Given the description of an element on the screen output the (x, y) to click on. 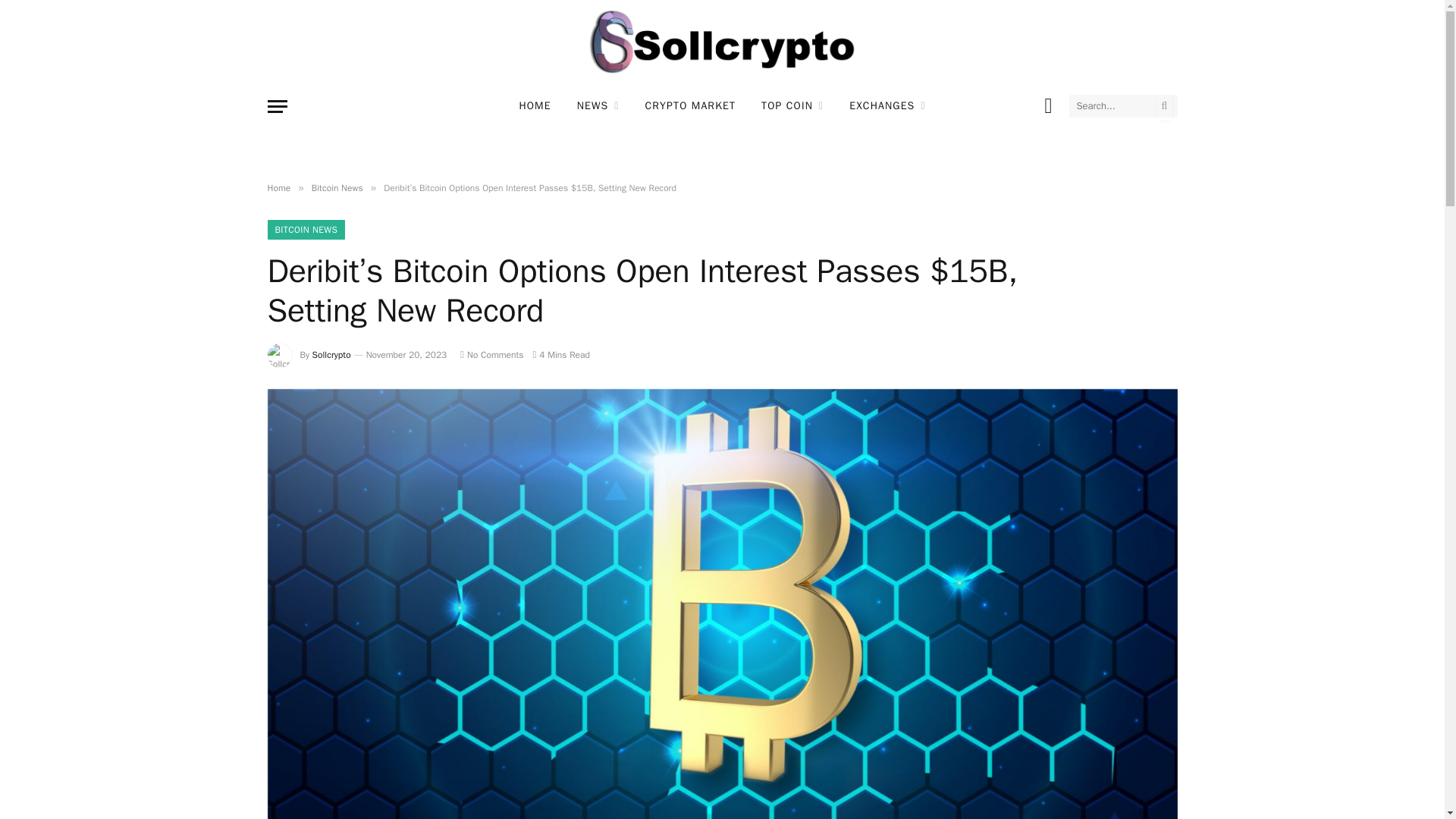
NEWS (597, 105)
TOP COIN (791, 105)
Switch to Dark Design - easier on eyes. (1047, 106)
HOME (534, 105)
Posts by Sollcrypto (331, 354)
CRYPTO MARKET (689, 105)
Sollcrypto (722, 41)
